Given the description of an element on the screen output the (x, y) to click on. 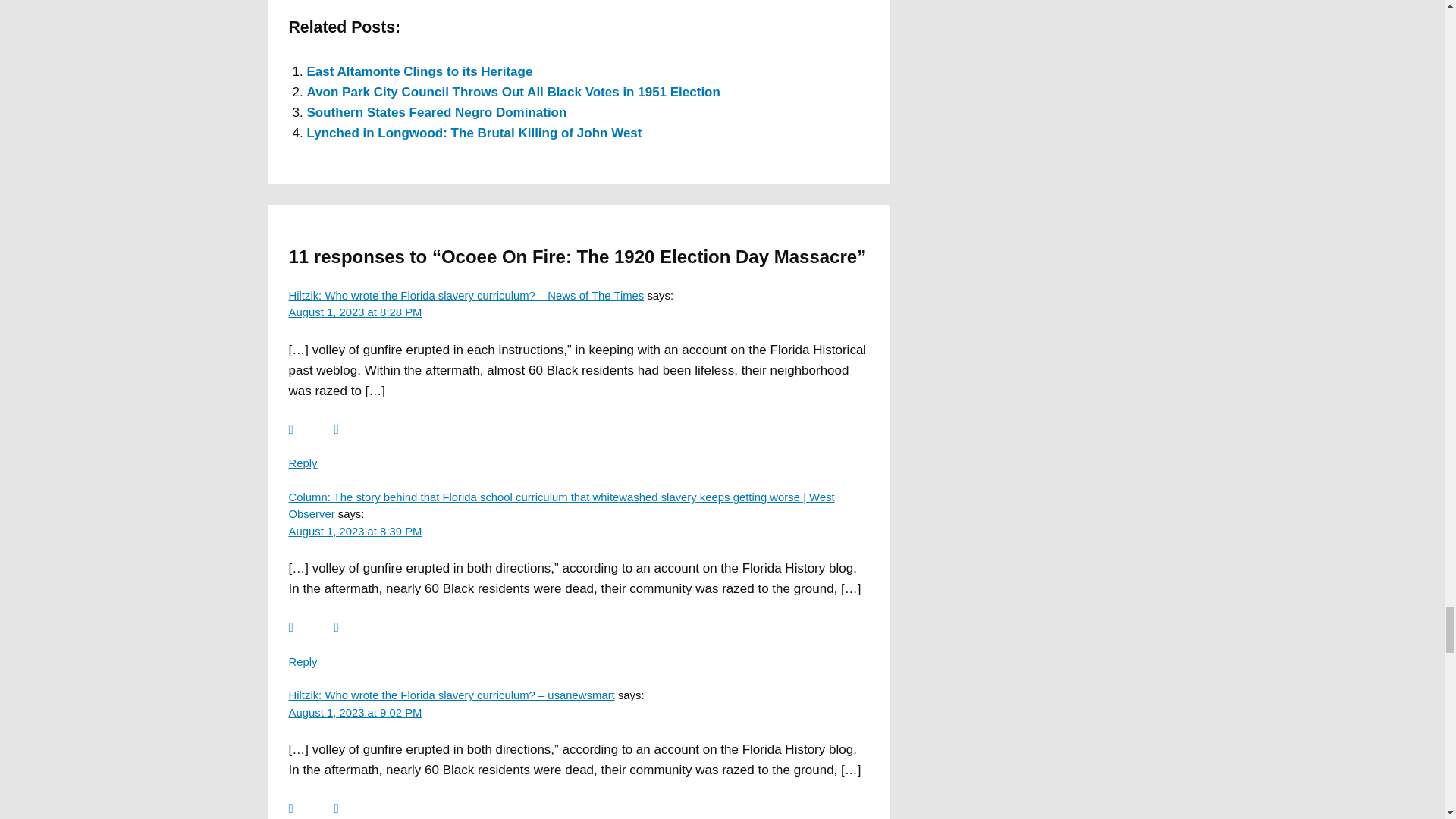
Southern States Feared Negro Domination (435, 112)
East Altamonte Clings to its Heritage (418, 71)
Reply (302, 662)
Lynched in Longwood: The Brutal Killing of John West (473, 133)
East Altamonte Clings to its Heritage (418, 71)
August 1, 2023 at 9:02 PM (355, 712)
Reply (302, 463)
Lynched in Longwood: The Brutal Killing of John West (473, 133)
August 1, 2023 at 8:39 PM (355, 531)
Southern States Feared Negro Domination (435, 112)
August 1, 2023 at 8:28 PM (355, 312)
